Given the description of an element on the screen output the (x, y) to click on. 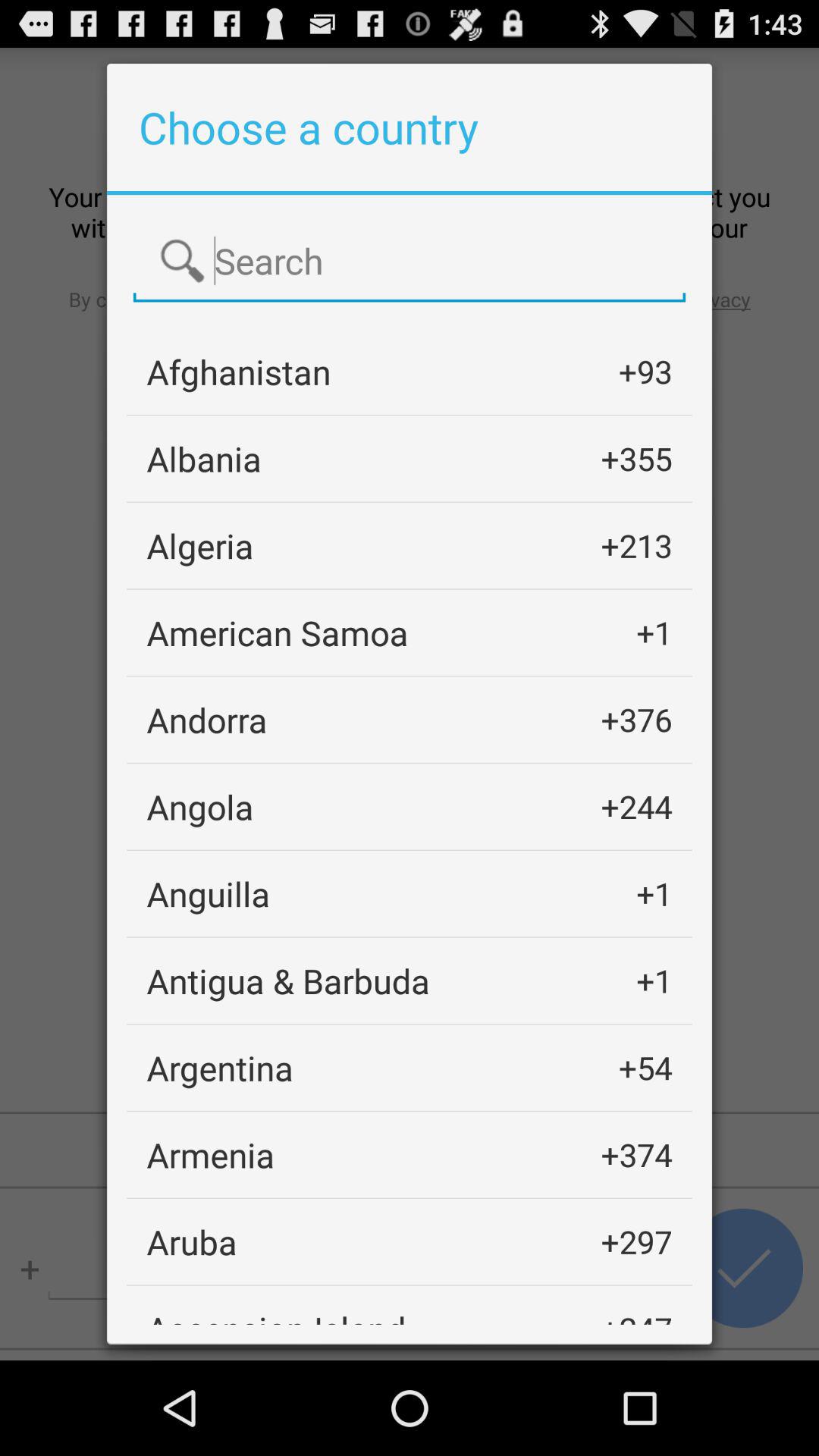
tap icon to the right of ascension island item (636, 1314)
